Given the description of an element on the screen output the (x, y) to click on. 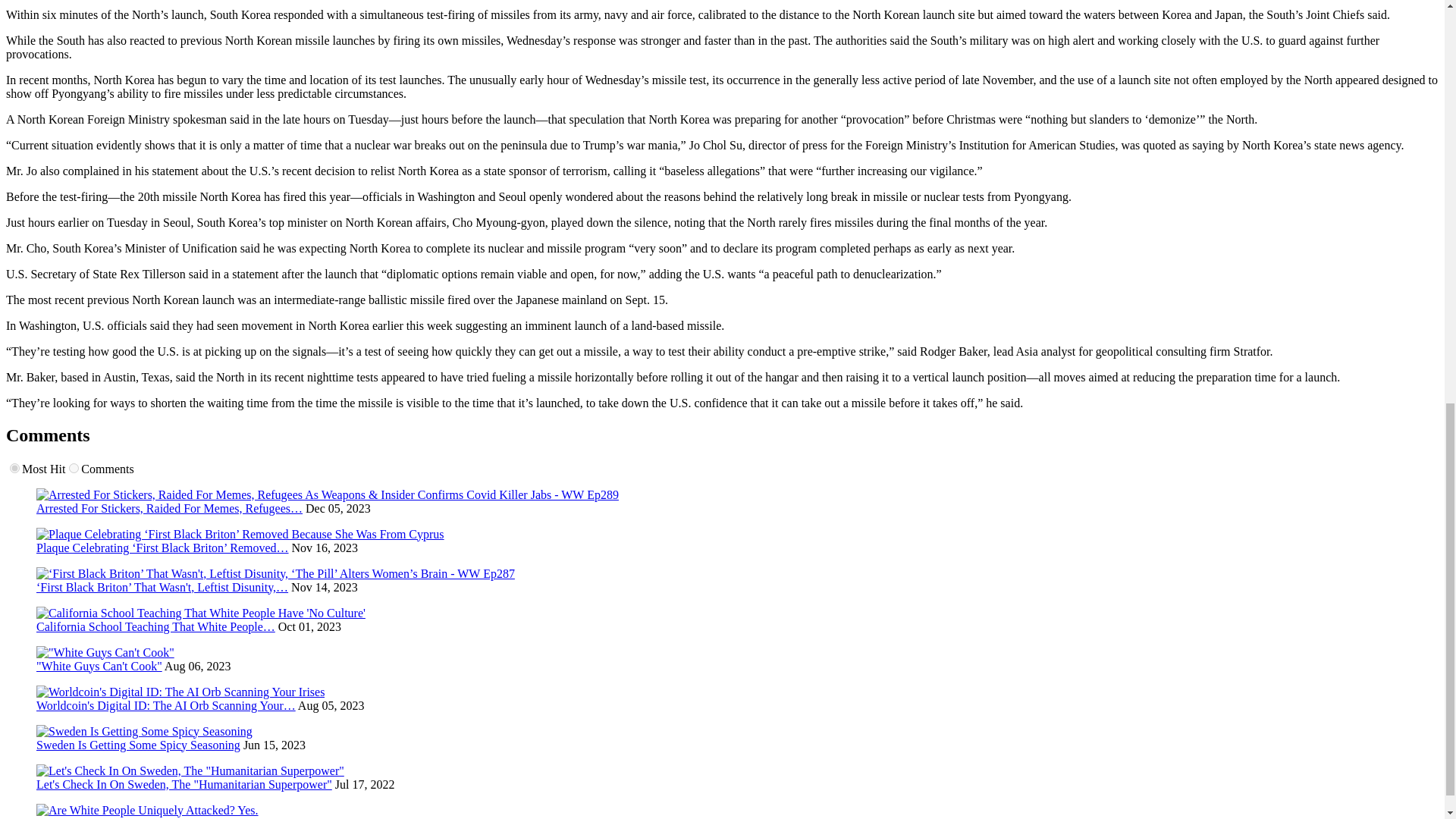
on (73, 468)
on (15, 468)
